Given the description of an element on the screen output the (x, y) to click on. 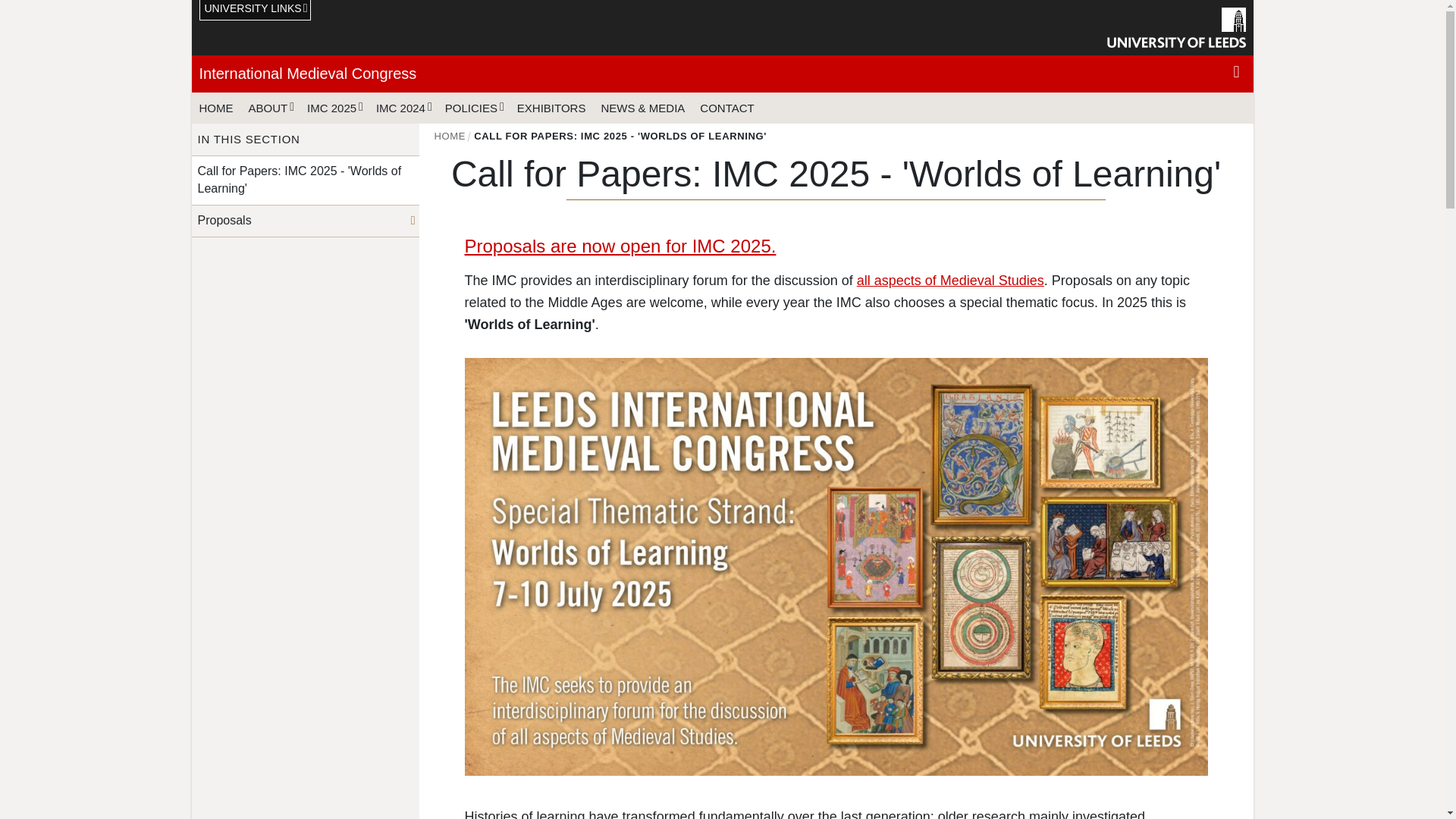
International Medieval Congress (307, 73)
UNIVERSITY LINKS (254, 10)
University of Leeds home page (1176, 26)
